Given the description of an element on the screen output the (x, y) to click on. 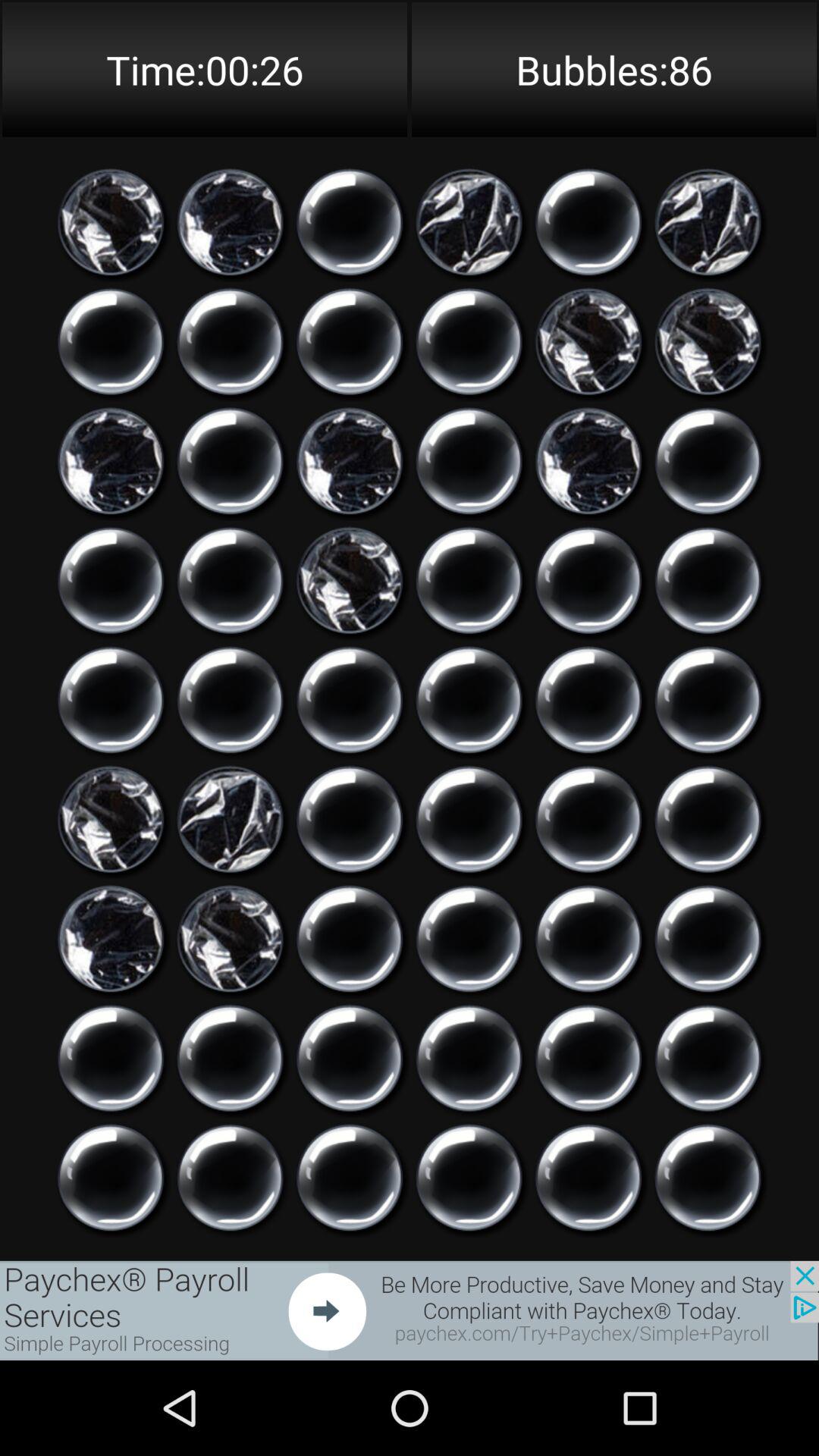
pop a bubble (230, 341)
